Given the description of an element on the screen output the (x, y) to click on. 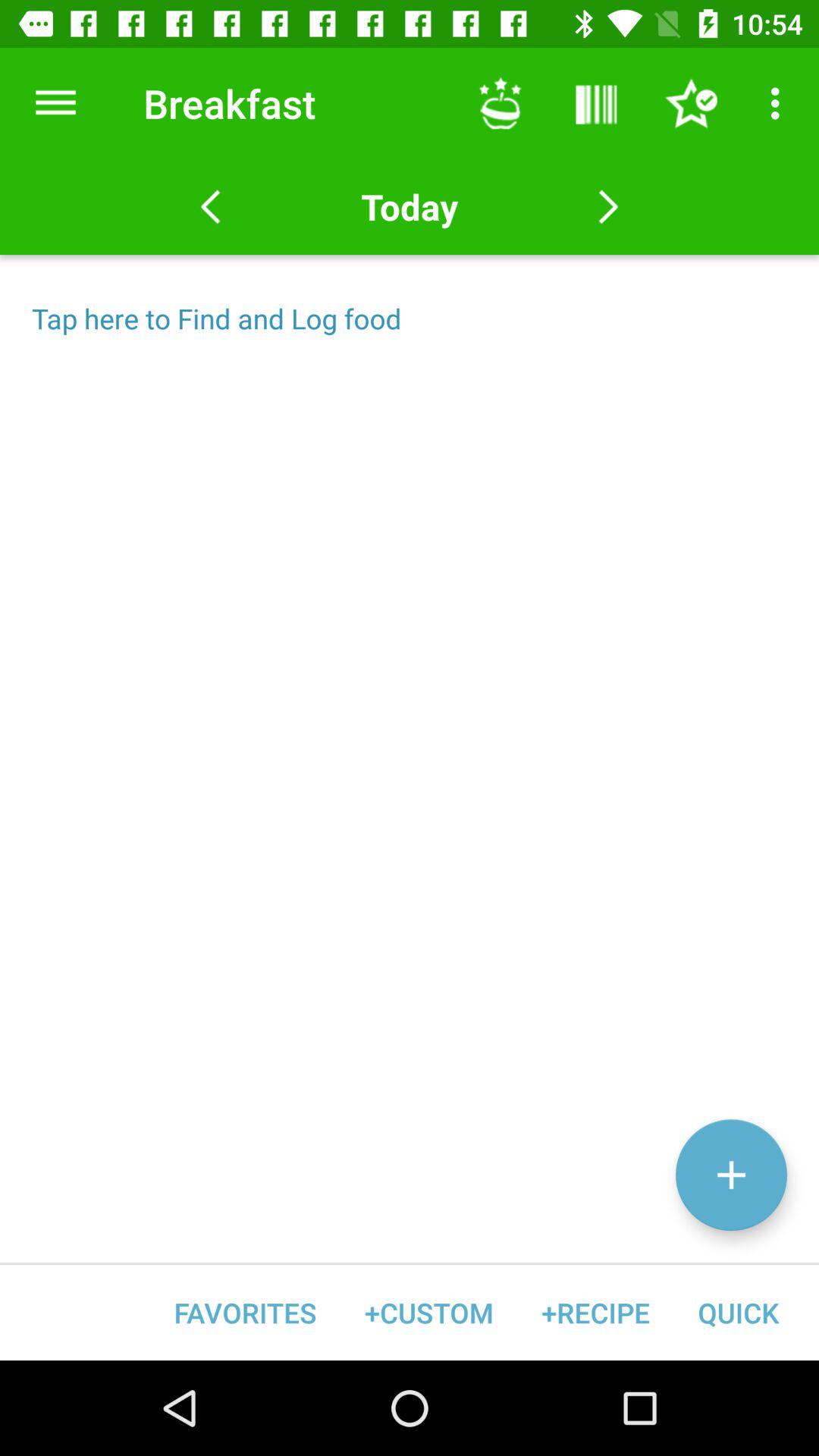
select the favorites at the bottom left corner (245, 1312)
